Given the description of an element on the screen output the (x, y) to click on. 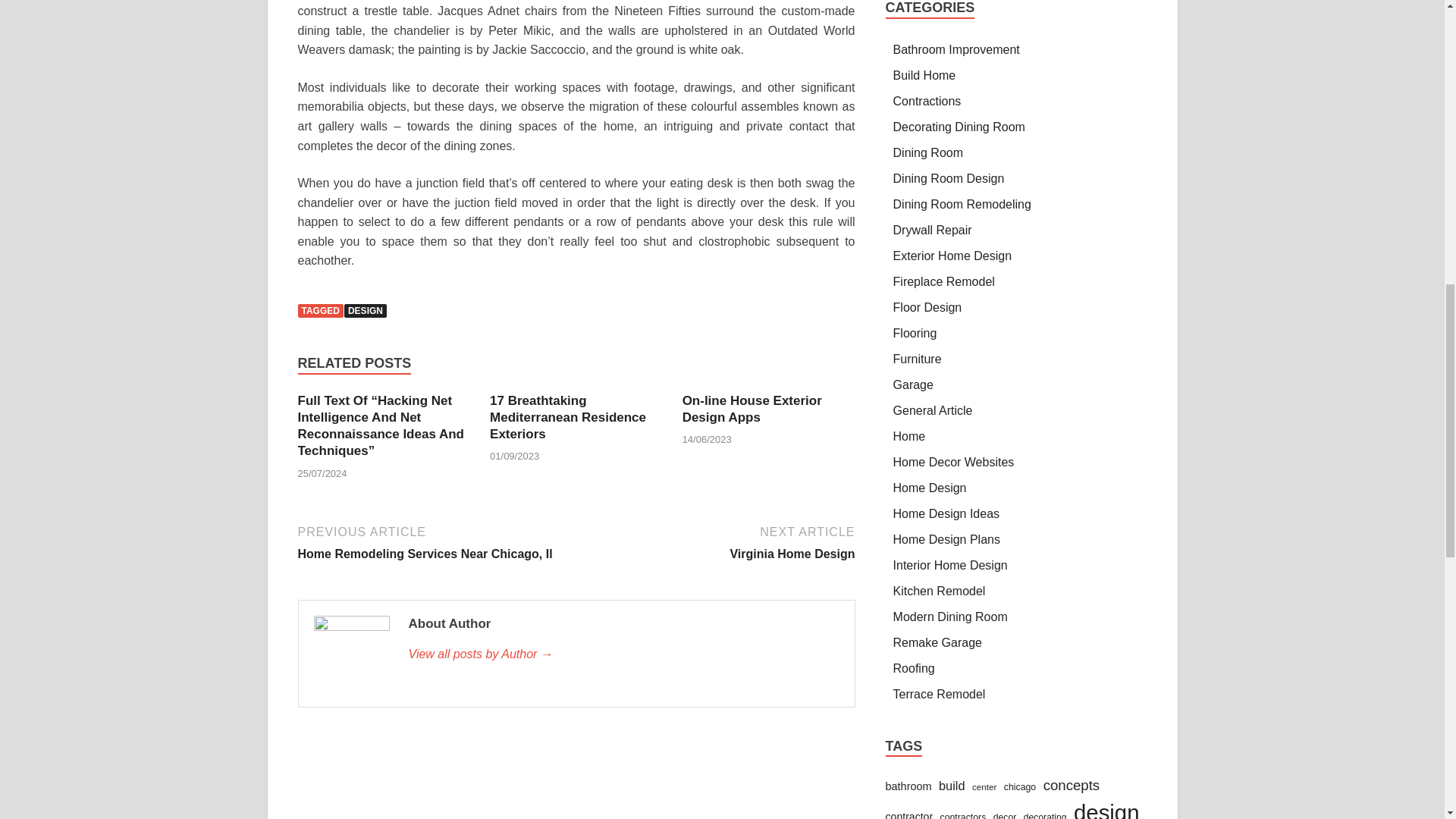
Author (622, 654)
On-line House Exterior Design Apps (752, 409)
17 Breathtaking Mediterranean Residence Exteriors (567, 417)
